Given the description of an element on the screen output the (x, y) to click on. 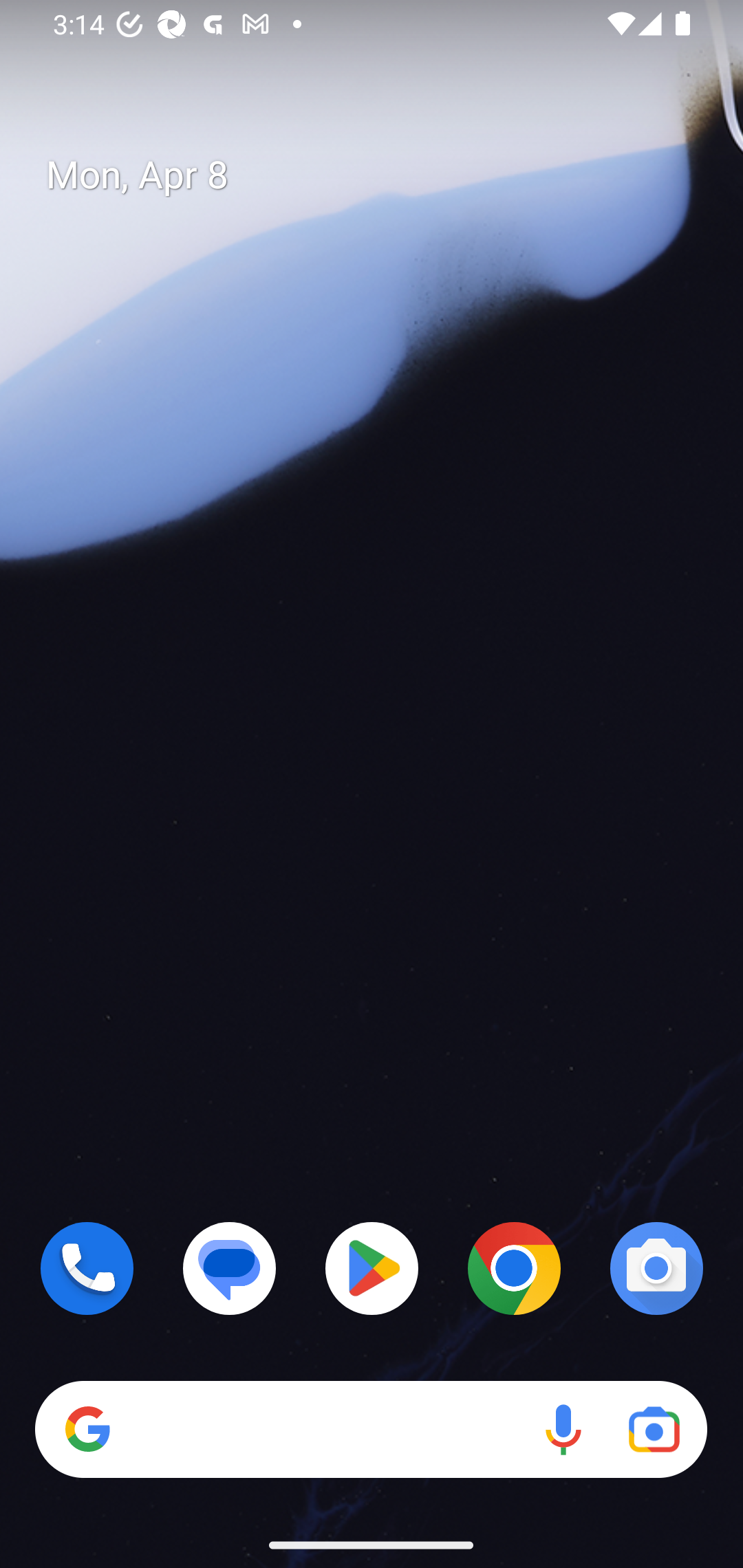
Mon, Apr 8 (386, 175)
Phone (86, 1268)
Messages (229, 1268)
Play Store (371, 1268)
Chrome (513, 1268)
Camera (656, 1268)
Search Voice search Google Lens (370, 1429)
Voice search (562, 1429)
Google Lens (653, 1429)
